Given the description of an element on the screen output the (x, y) to click on. 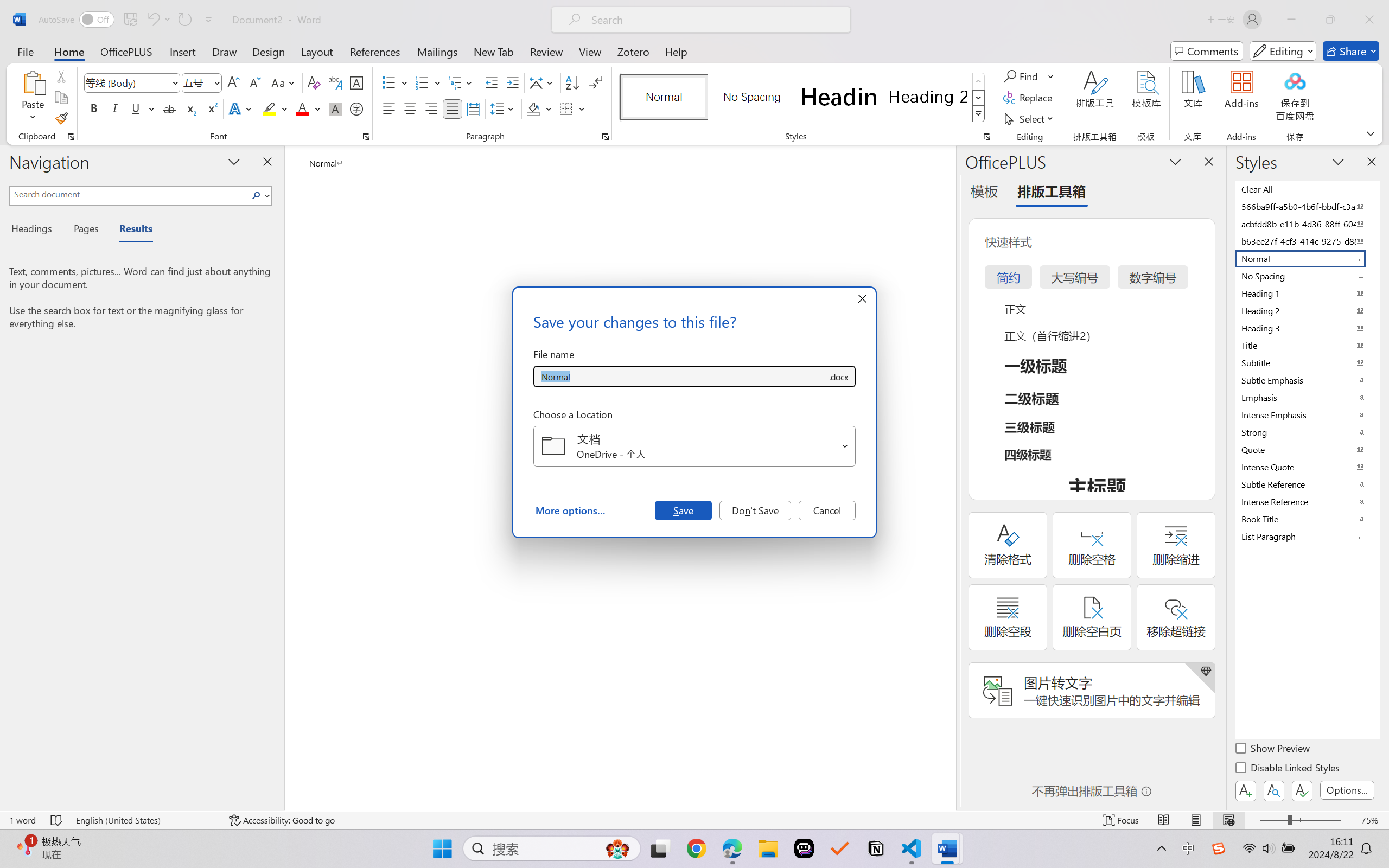
Increase Indent (512, 82)
New Tab (493, 51)
Intense Quote (1306, 466)
Align Left (388, 108)
Save (682, 509)
Accessibility Checker Accessibility: Good to go (282, 819)
Grow Font (233, 82)
Heading 2 (927, 96)
